Given the description of an element on the screen output the (x, y) to click on. 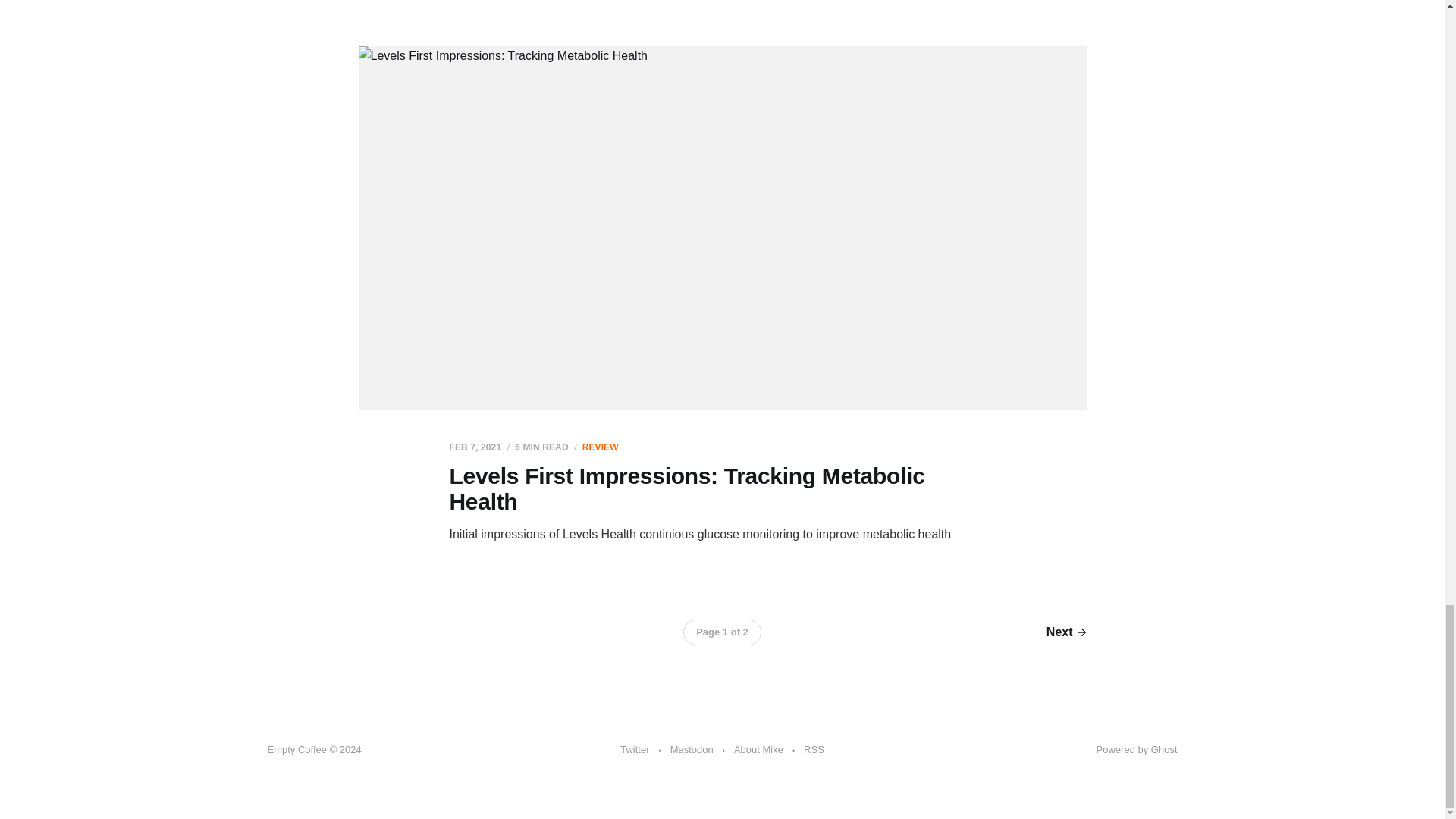
About Mike (758, 750)
Mastodon (691, 750)
Twitter (634, 750)
Powered by Ghost (1136, 749)
Review (600, 447)
REVIEW (600, 447)
Next (1066, 632)
Levels First Impressions: Tracking Metabolic Health (686, 489)
RSS (813, 750)
